Given the description of an element on the screen output the (x, y) to click on. 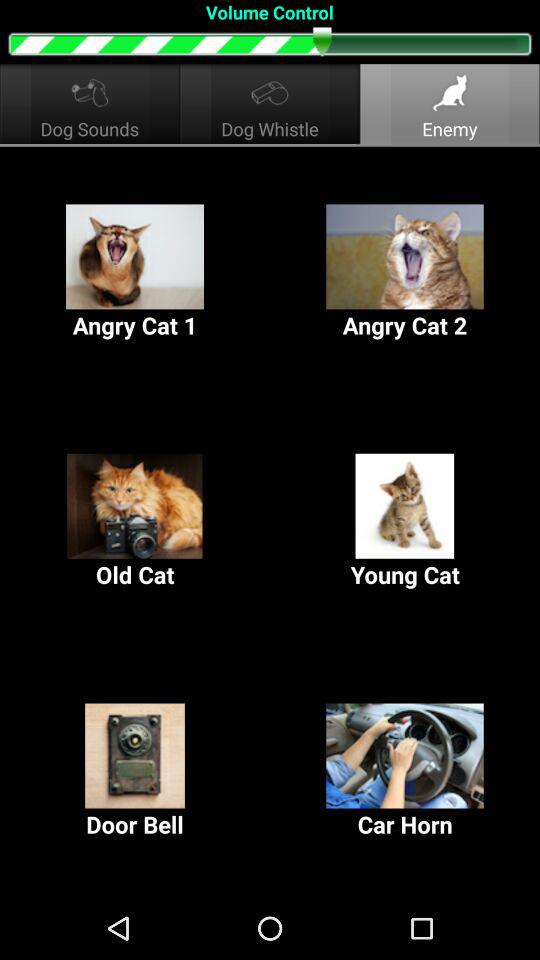
press the button at the bottom right corner (405, 771)
